Given the description of an element on the screen output the (x, y) to click on. 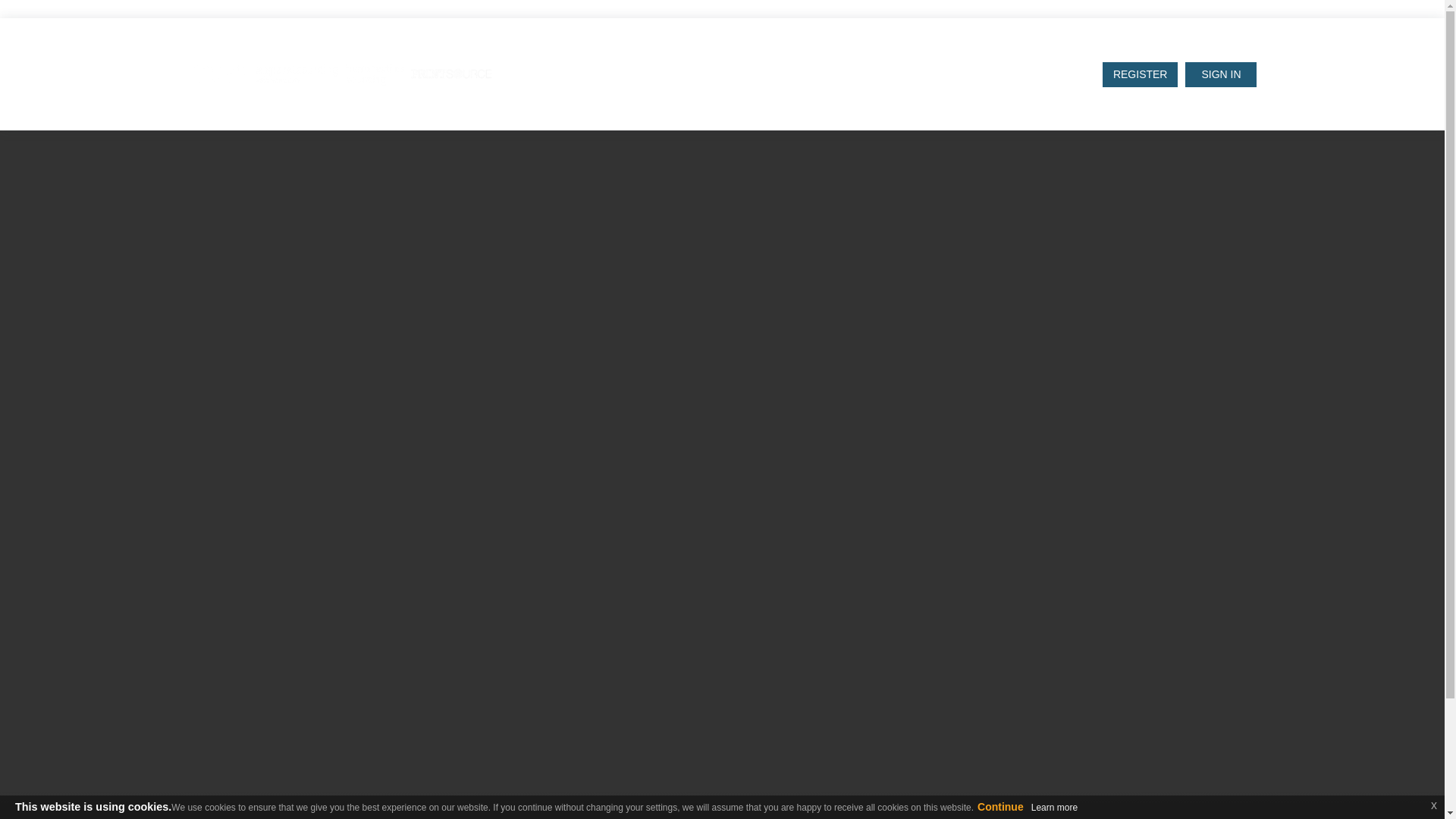
ZEITGEIST MAGAZINE (909, 67)
REGISTER (1139, 74)
SESSIONS (786, 67)
EXHIBITOR LIST (679, 67)
Learn more (1053, 807)
SIGN IN (1220, 74)
Continue (999, 806)
